Given the description of an element on the screen output the (x, y) to click on. 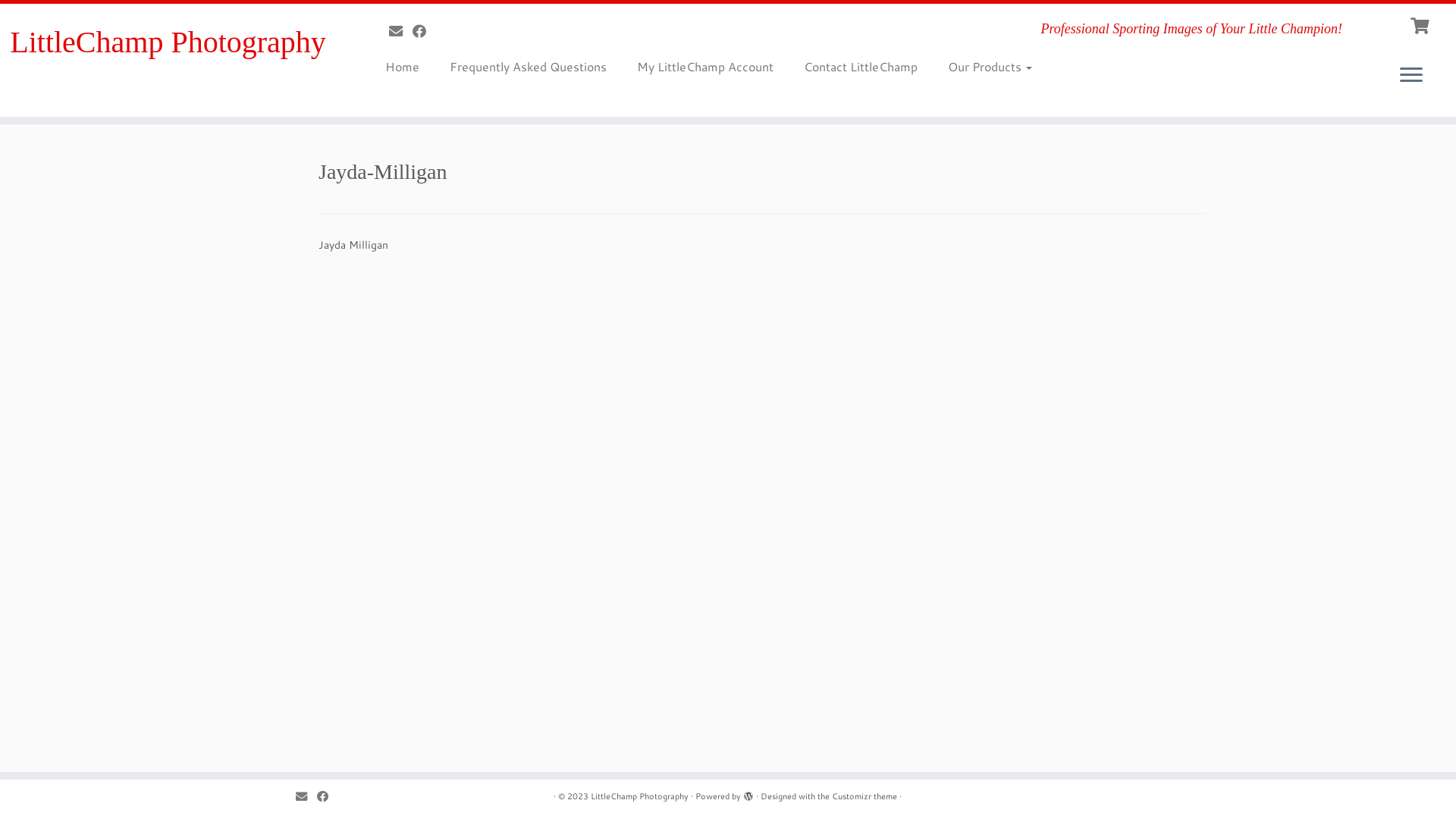
View your shopping cart Element type: hover (1421, 20)
Our Products Element type: text (982, 66)
Open the menu Element type: hover (1411, 75)
E-mail Element type: hover (400, 30)
Powered by WordPress Element type: hover (748, 792)
E-mail Element type: hover (305, 796)
Follow me on Facebook Element type: hover (424, 30)
Frequently Asked Questions Element type: text (527, 66)
My LittleChamp Account Element type: text (704, 66)
Follow me on Facebook Element type: hover (327, 796)
Home Element type: text (407, 66)
LittleChamp Photography Element type: text (167, 42)
LittleChamp Photography Element type: text (639, 796)
Customizr theme Element type: text (864, 796)
Contact LittleChamp Element type: text (860, 66)
